Given the description of an element on the screen output the (x, y) to click on. 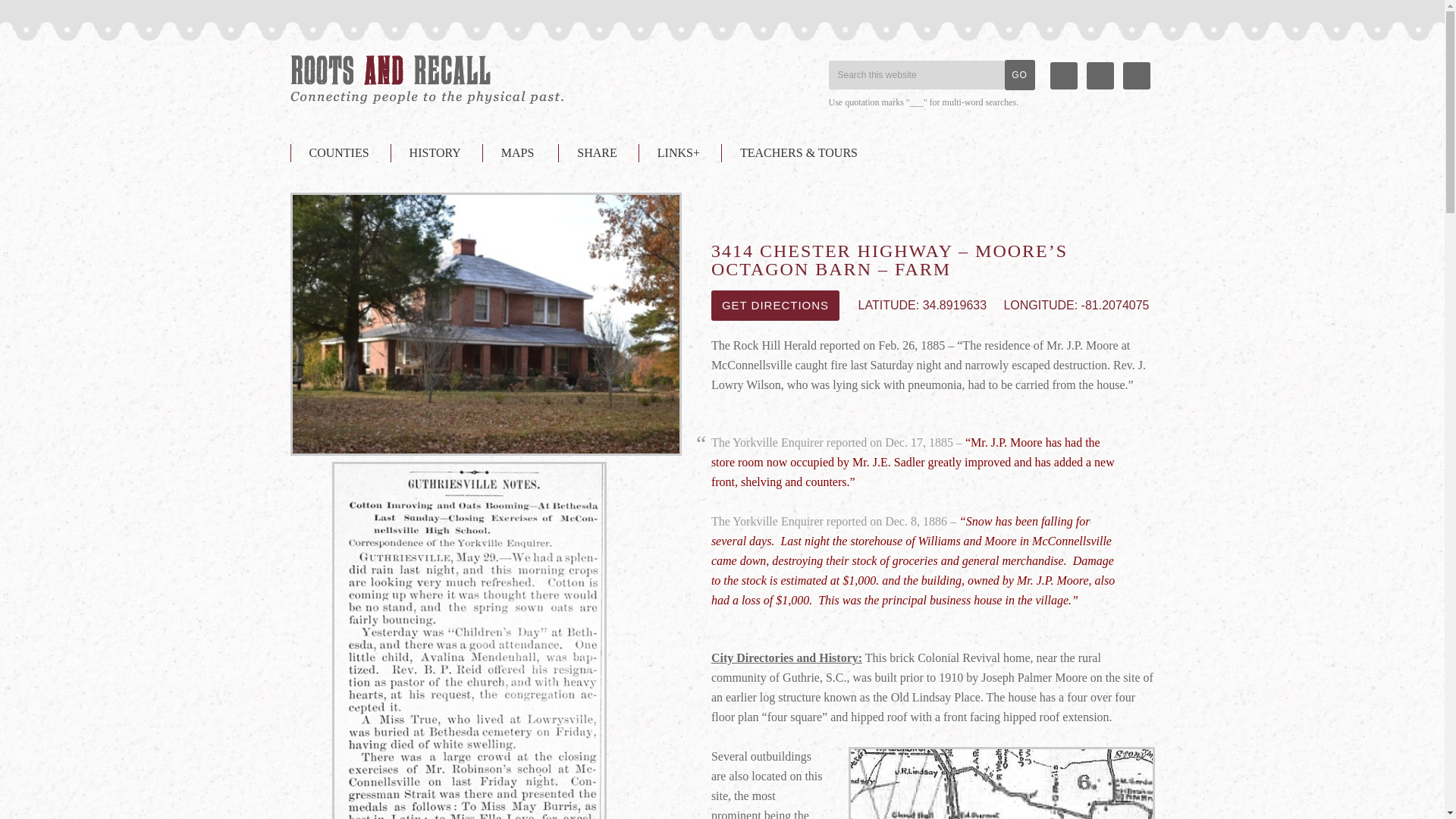
YORK COUNTY (425, 80)
Go (1018, 74)
COUNTIES (338, 153)
York County (425, 80)
Go (1018, 74)
Go (1018, 74)
